Given the description of an element on the screen output the (x, y) to click on. 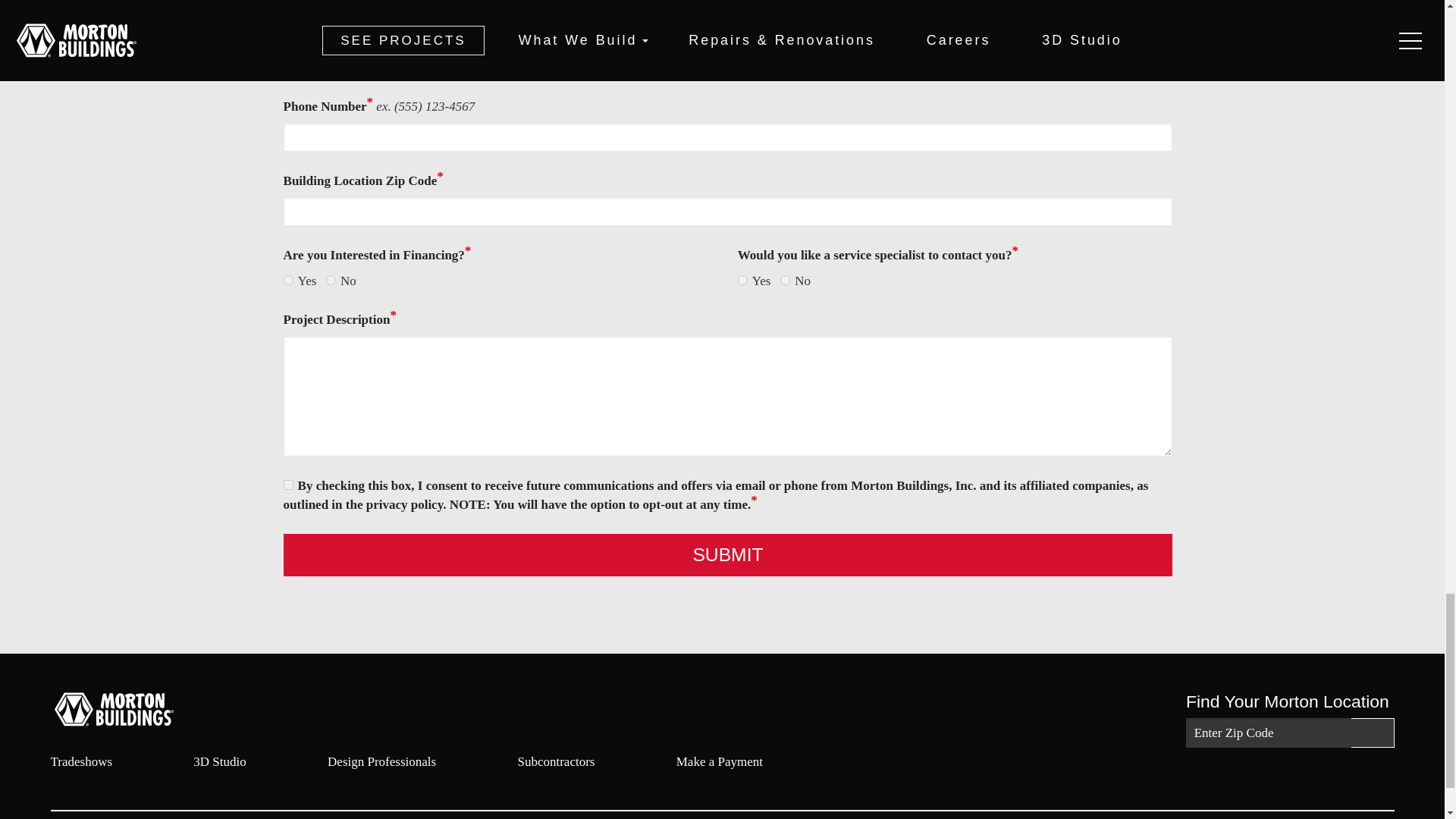
2 (785, 280)
wordmark (134, 709)
1 (743, 280)
1 (288, 280)
2 (331, 280)
yes (288, 484)
